Given the description of an element on the screen output the (x, y) to click on. 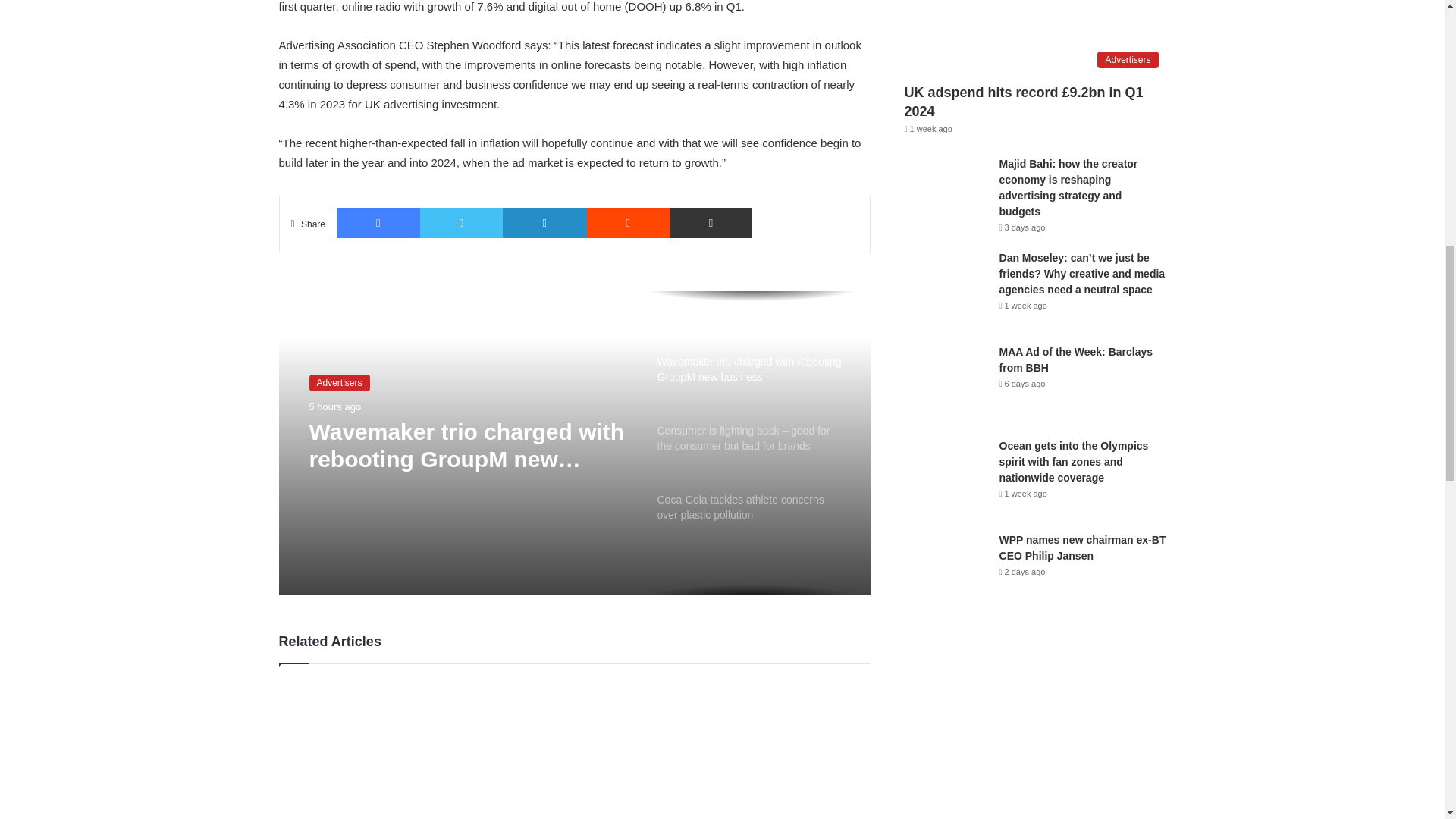
Twitter (461, 223)
Facebook (378, 223)
LinkedIn (544, 223)
Reddit (627, 223)
Reddit (627, 223)
Share via Email (710, 223)
LinkedIn (544, 223)
Share via Email (710, 223)
Twitter (461, 223)
Facebook (378, 223)
